Given the description of an element on the screen output the (x, y) to click on. 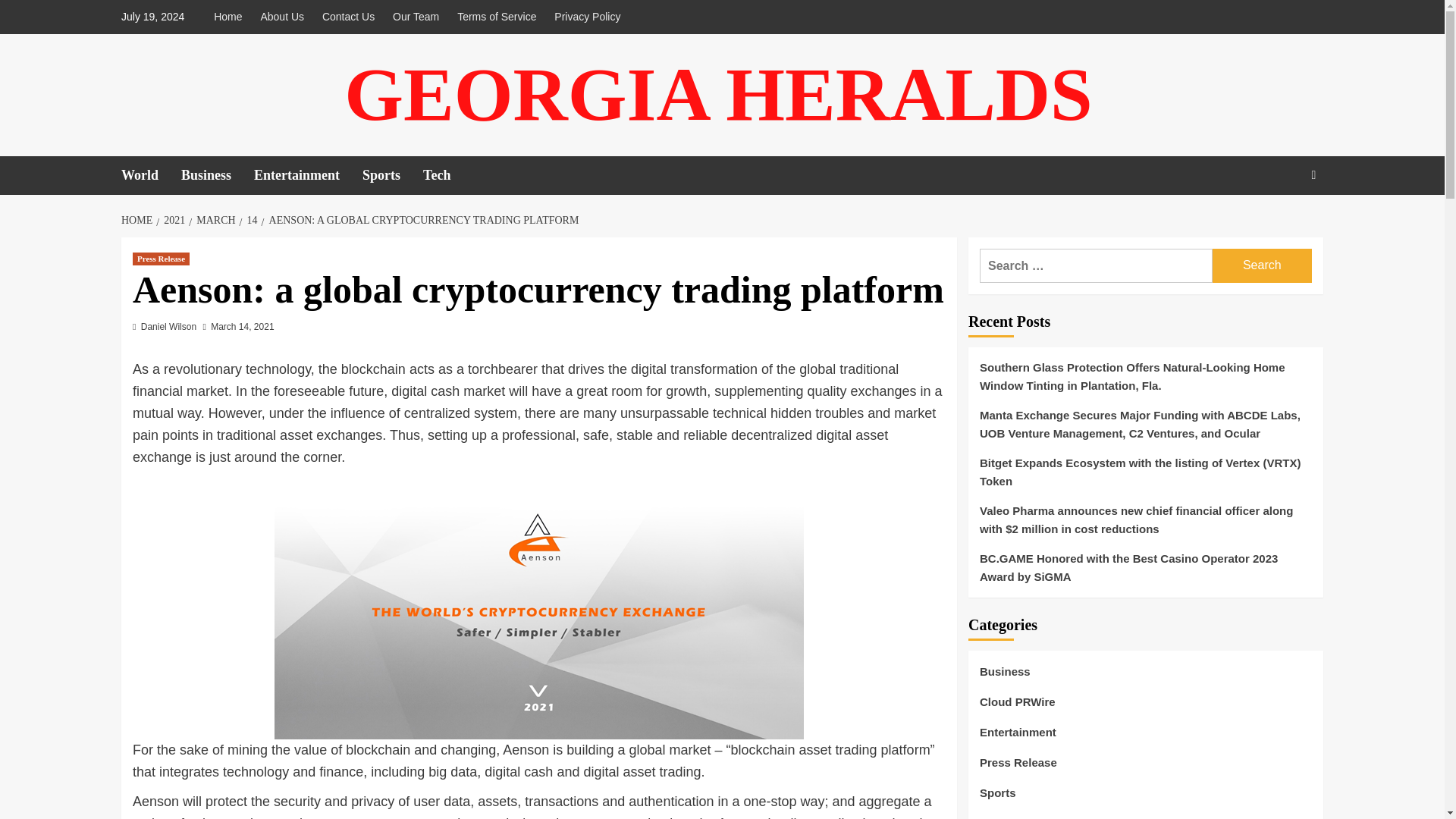
Daniel Wilson (168, 326)
Terms of Service (496, 17)
HOME (137, 220)
Contact Us (347, 17)
Search (1261, 265)
GEORGIA HERALDS (717, 94)
Our Team (415, 17)
Home (231, 17)
World (150, 175)
Sports (392, 175)
March 14, 2021 (242, 326)
Business (216, 175)
About Us (281, 17)
Search (1278, 223)
Privacy Policy (587, 17)
